Given the description of an element on the screen output the (x, y) to click on. 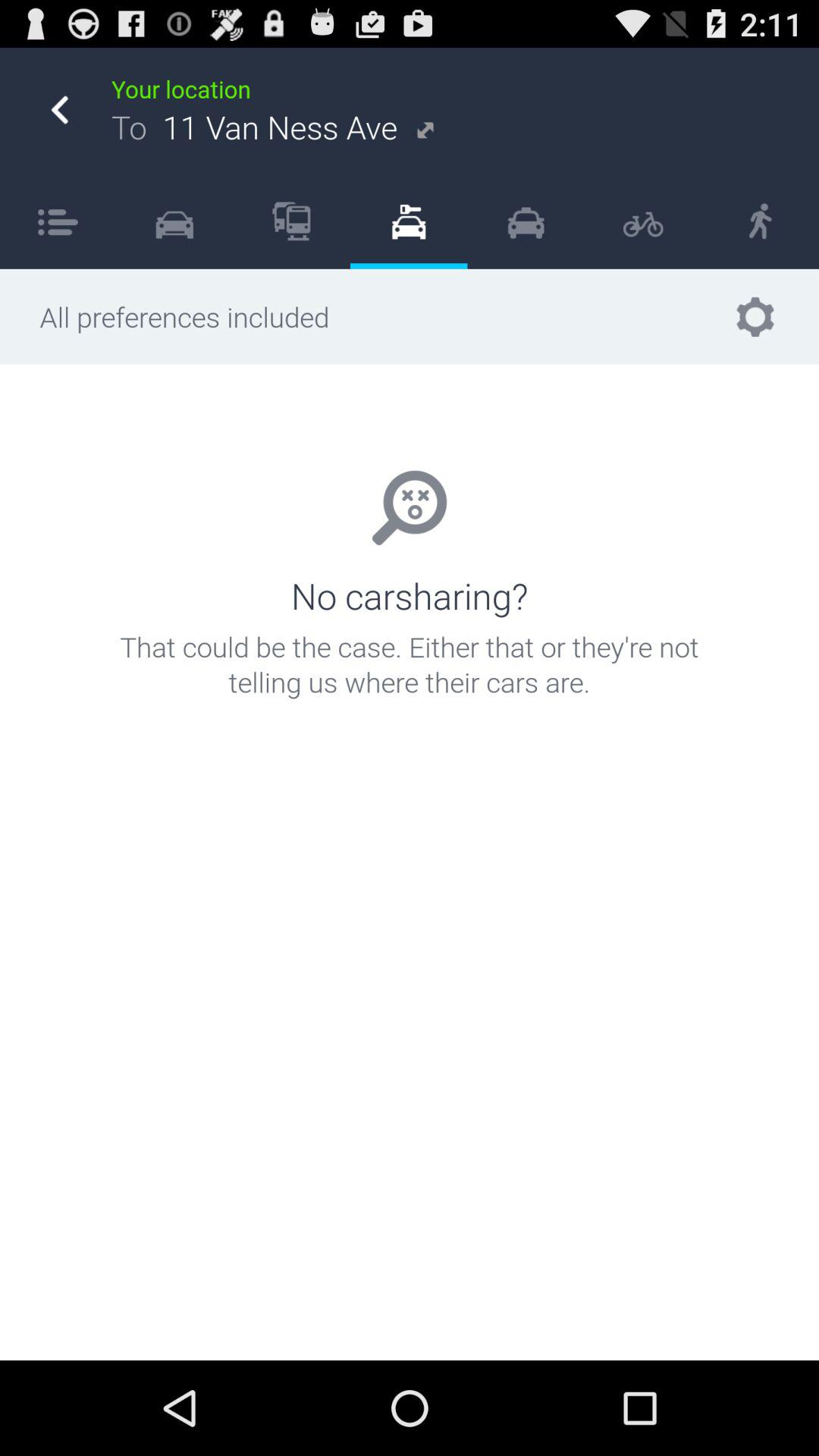
select the icon above the settings button on the web page (760, 221)
select the image from third right (525, 221)
click the settings button on the web page (755, 316)
